Given the description of an element on the screen output the (x, y) to click on. 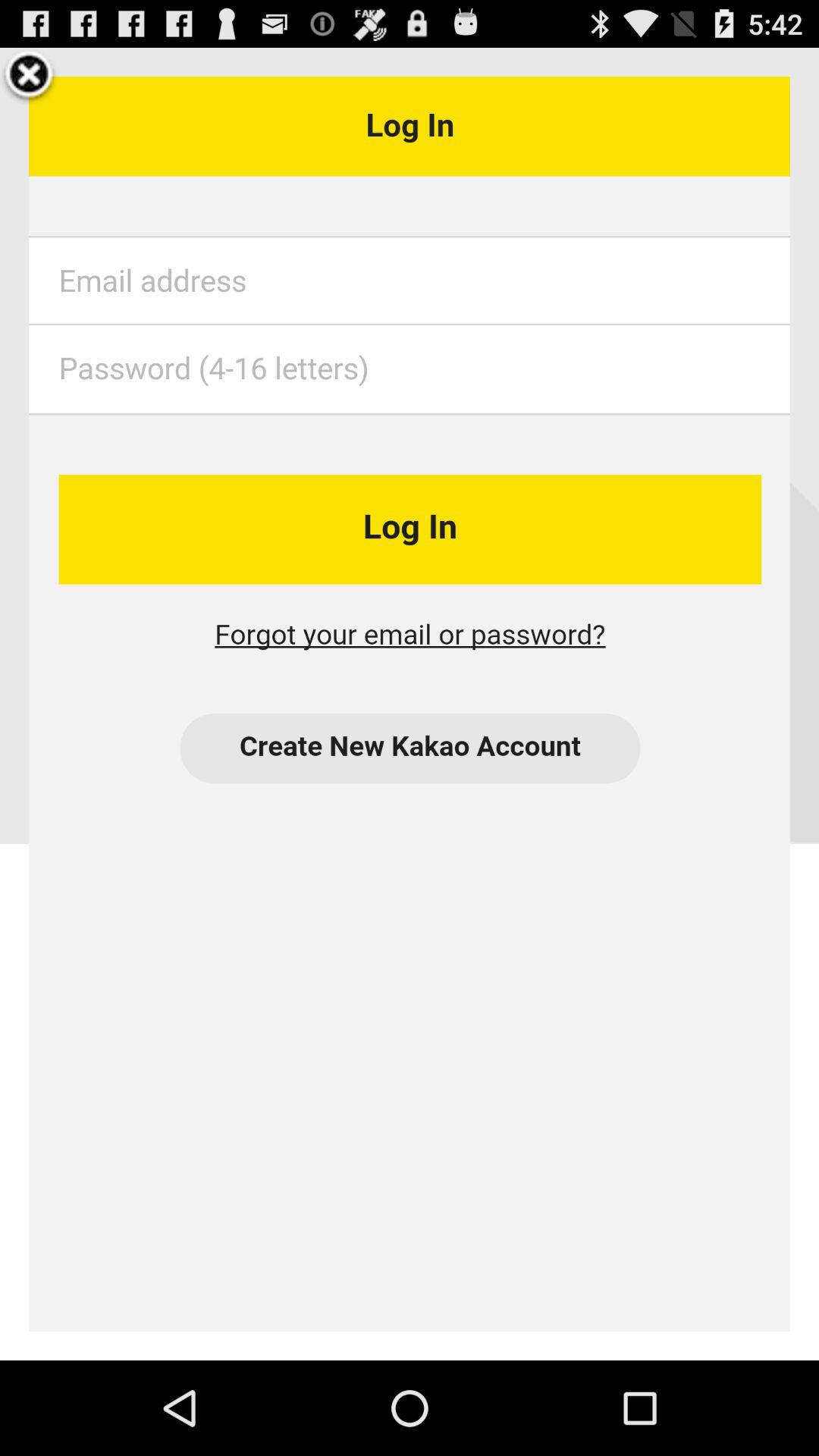
go to login (409, 703)
